Given the description of an element on the screen output the (x, y) to click on. 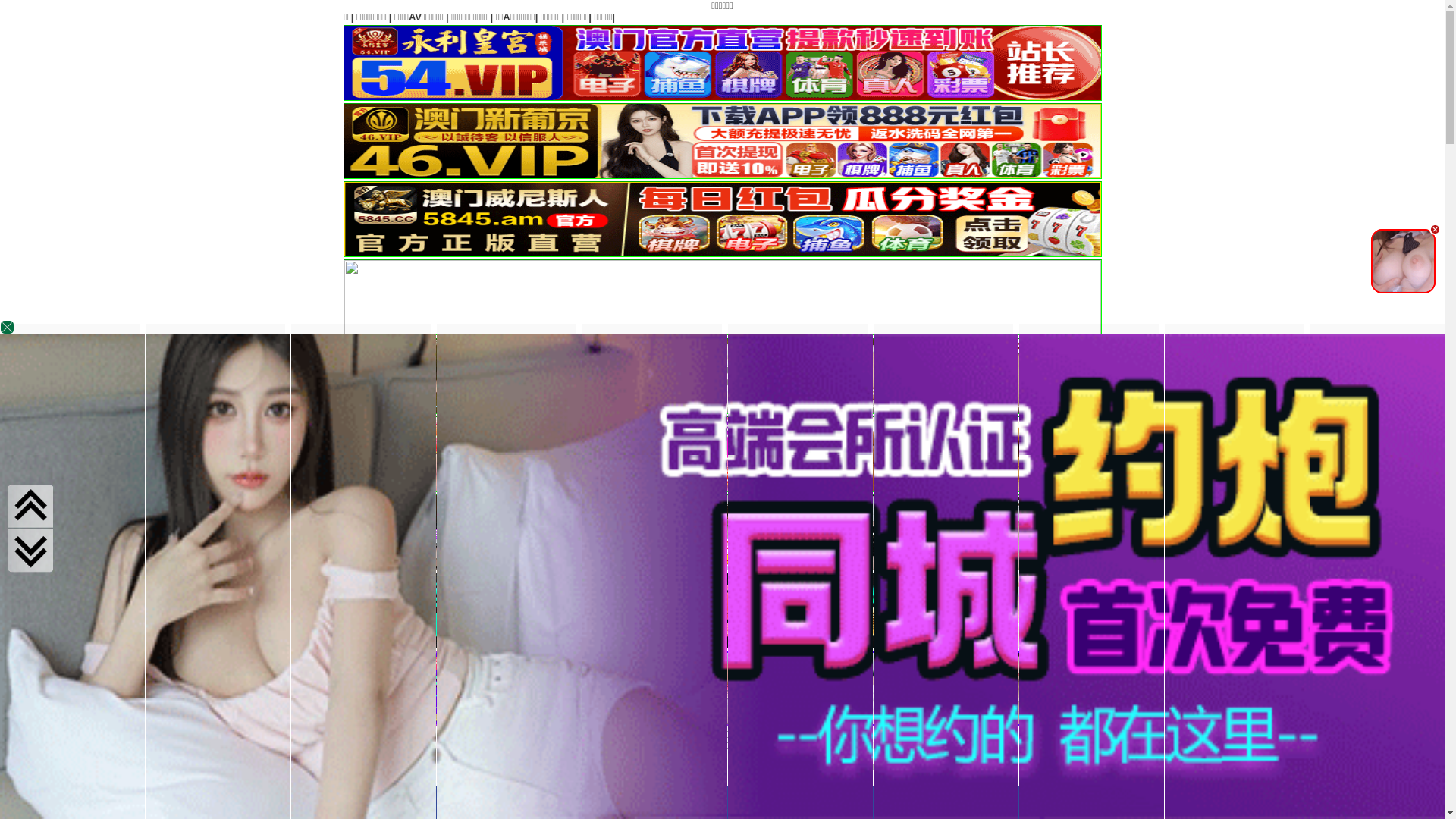
| Element type: text (738, 16)
| Element type: text (1009, 16)
| Element type: text (1337, 16)
| Element type: text (923, 16)
| Element type: text (1115, 16)
| Element type: text (1380, 16)
| Element type: text (692, 16)
| Element type: text (1149, 16)
| Element type: text (1184, 16)
| Element type: text (653, 16)
| Element type: text (1295, 16)
| Element type: text (876, 16)
| Element type: text (1415, 16)
| Element type: text (628, 16)
| Element type: text (968, 16)
| Element type: text (816, 16)
| Element type: text (1238, 16)
| Element type: text (1058, 16)
| Element type: text (778, 16)
